Given the description of an element on the screen output the (x, y) to click on. 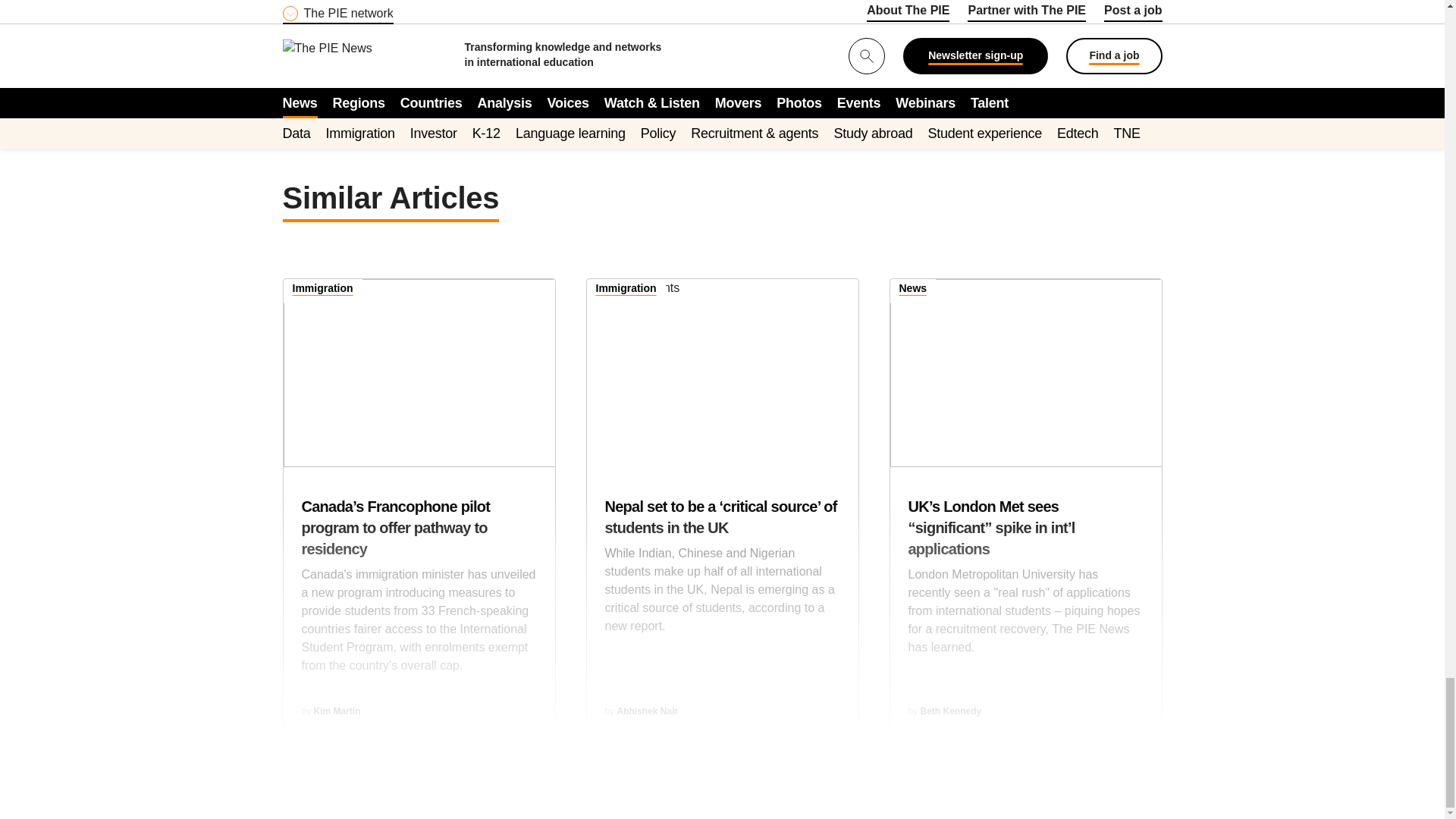
View all Immigration articles (322, 289)
View all News articles (912, 289)
View all Immigration articles (625, 289)
